Given the description of an element on the screen output the (x, y) to click on. 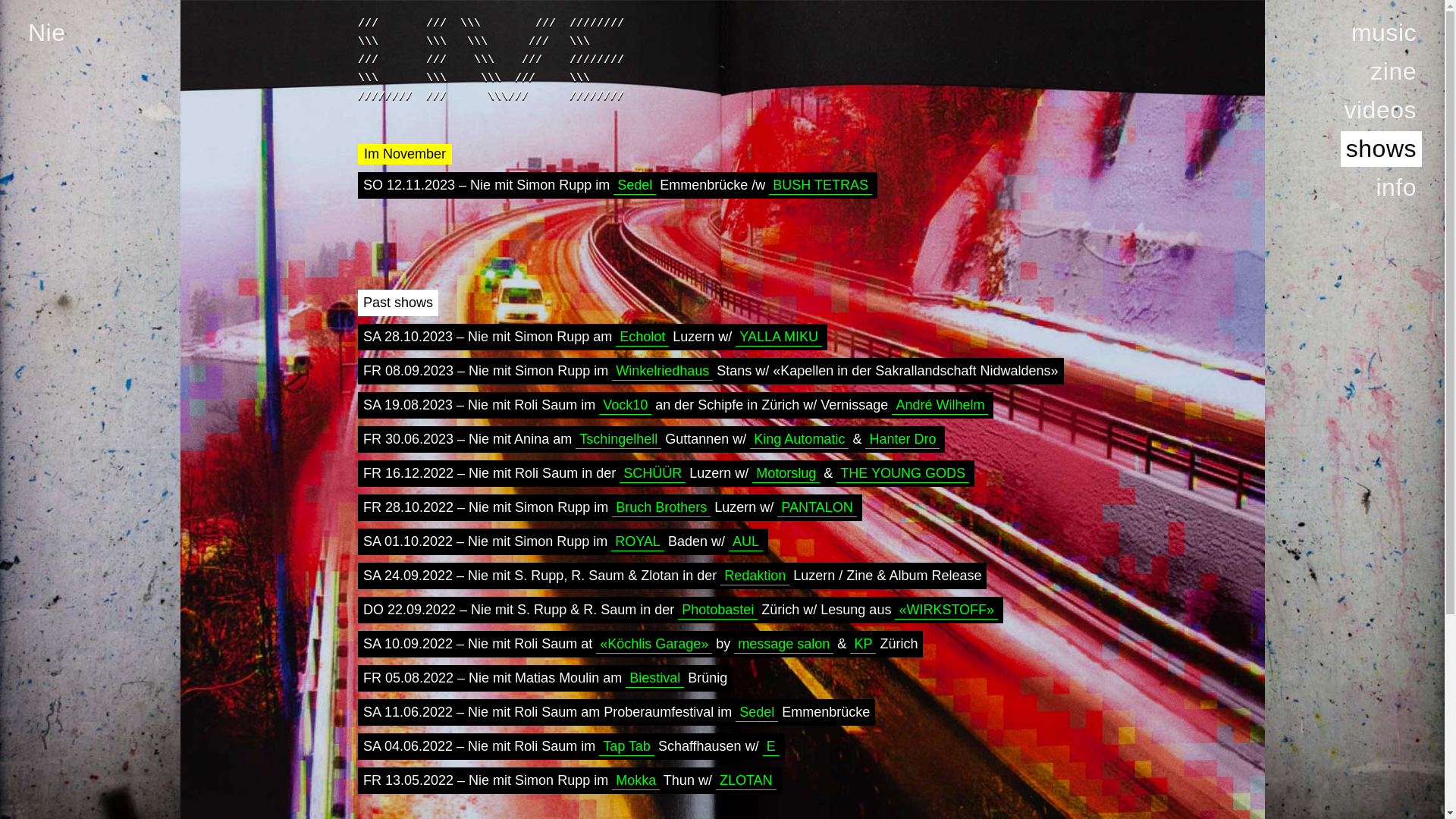
Biestival Element type: text (654, 677)
Echolot Element type: text (641, 336)
E Element type: text (770, 746)
music Element type: text (1383, 32)
message salon Element type: text (783, 643)
Redaktion Element type: text (754, 575)
Mokka Element type: text (635, 780)
AUL Element type: text (745, 541)
THE YOUNG GODS Element type: text (902, 473)
Sedel Element type: text (634, 184)
Bruch Brothers Element type: text (660, 507)
info Element type: text (1395, 187)
Winkelriedhaus Element type: text (661, 370)
Hanter Dro Element type: text (902, 438)
ZLOTAN Element type: text (745, 780)
Sedel Element type: text (756, 711)
King Automatic Element type: text (798, 438)
PANTALON Element type: text (816, 507)
Vock10 Element type: text (625, 404)
zine Element type: text (1393, 71)
Tschingelhell Element type: text (618, 438)
Motorslug Element type: text (785, 473)
Photobastei Element type: text (717, 609)
BUSH TETRAS Element type: text (820, 184)
Tap Tab Element type: text (626, 746)
KP Element type: text (862, 643)
shows Element type: text (1380, 148)
ROYAL Element type: text (637, 541)
YALLA MIKU Element type: text (778, 336)
videos Element type: text (1380, 110)
Nie Element type: text (46, 32)
